Given the description of an element on the screen output the (x, y) to click on. 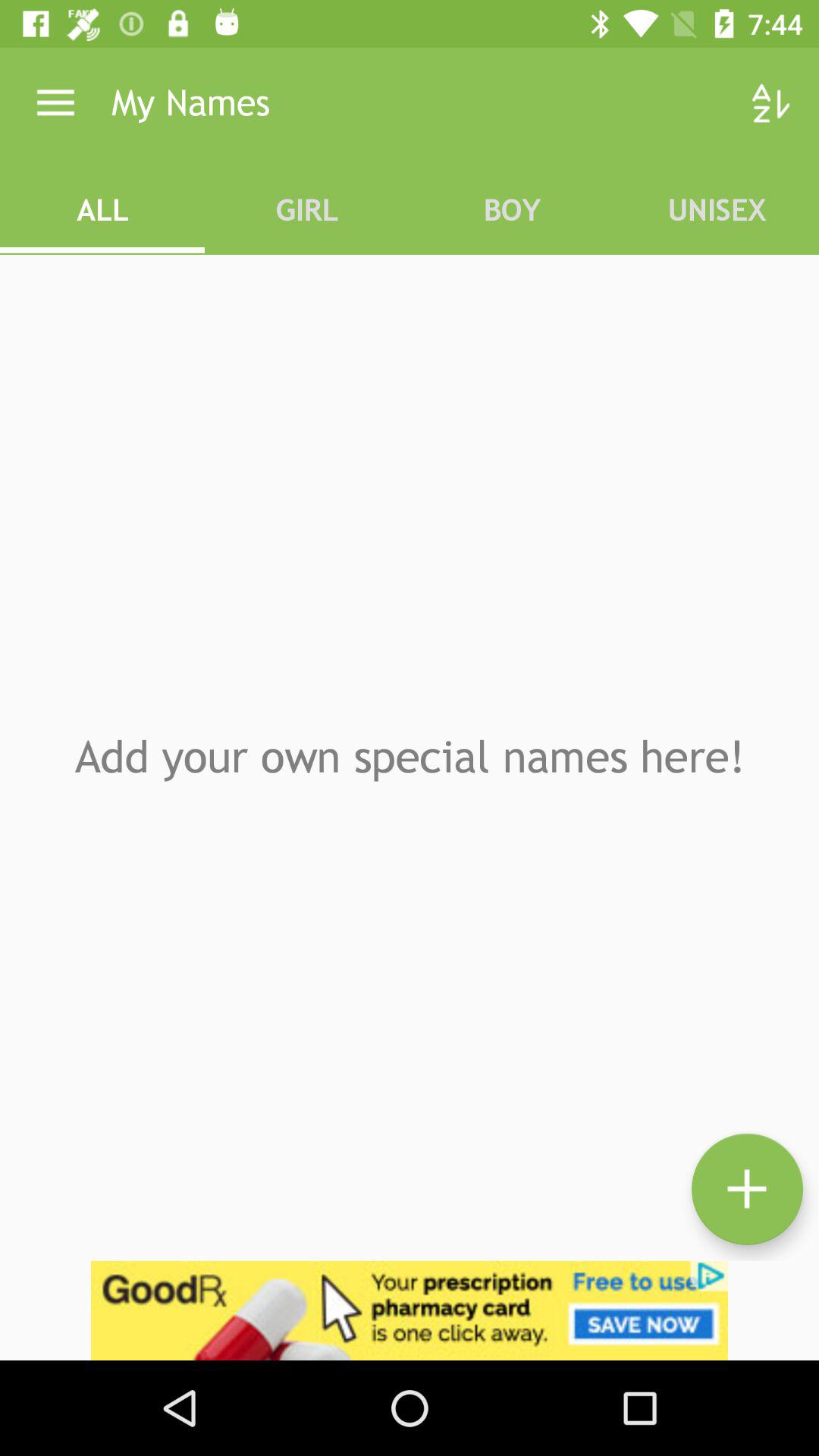
open the advertisement (409, 1310)
